Given the description of an element on the screen output the (x, y) to click on. 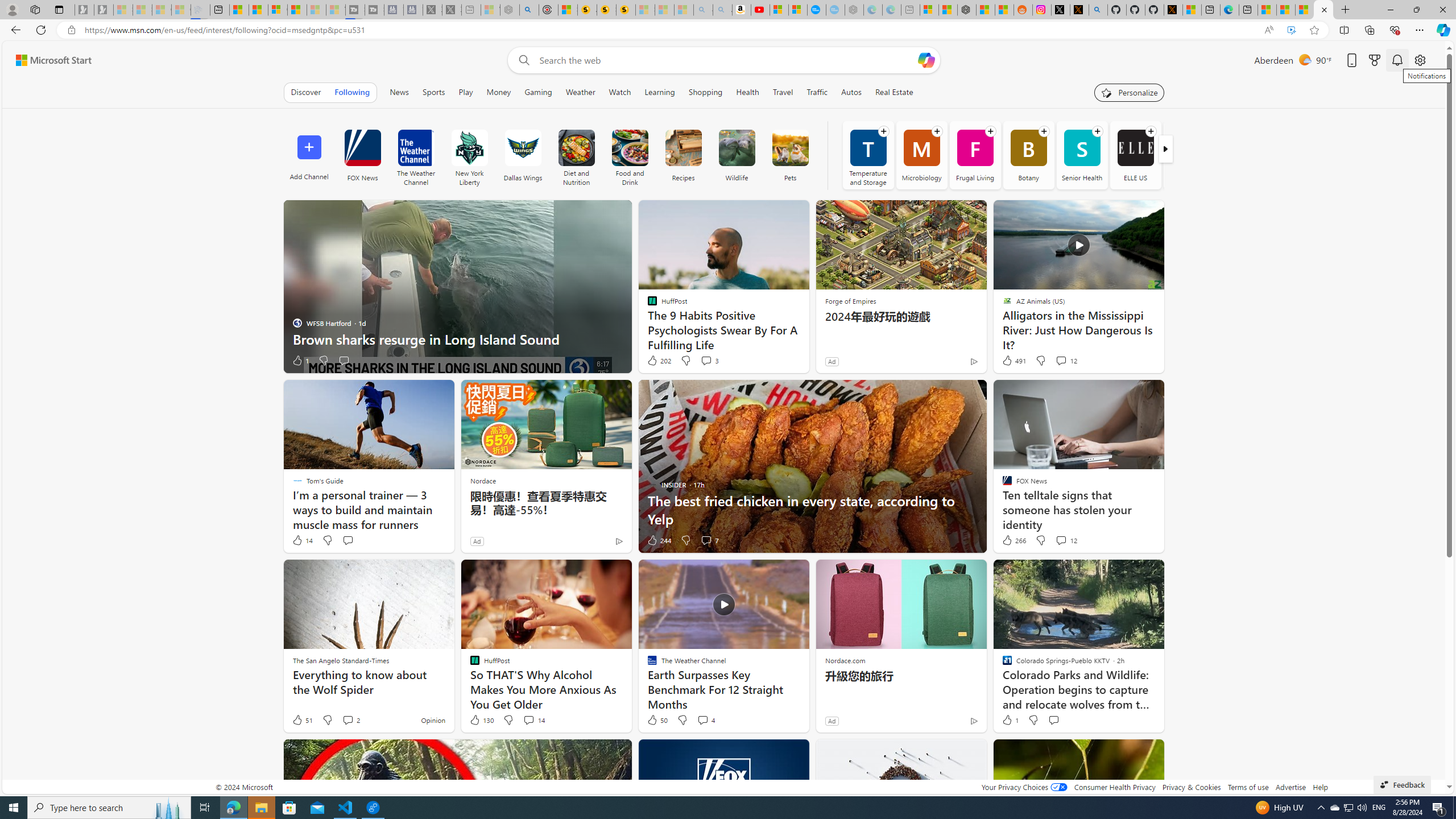
New York Liberty (469, 147)
MSNBC - MSN (1285, 9)
Personalize your feed" (1129, 92)
244 Like (658, 539)
poe - Search (529, 9)
Michelle Starr, Senior Journalist at ScienceAlert (625, 9)
130 Like (480, 719)
Mostly sunny (1304, 59)
Recipes (683, 155)
